Given the description of an element on the screen output the (x, y) to click on. 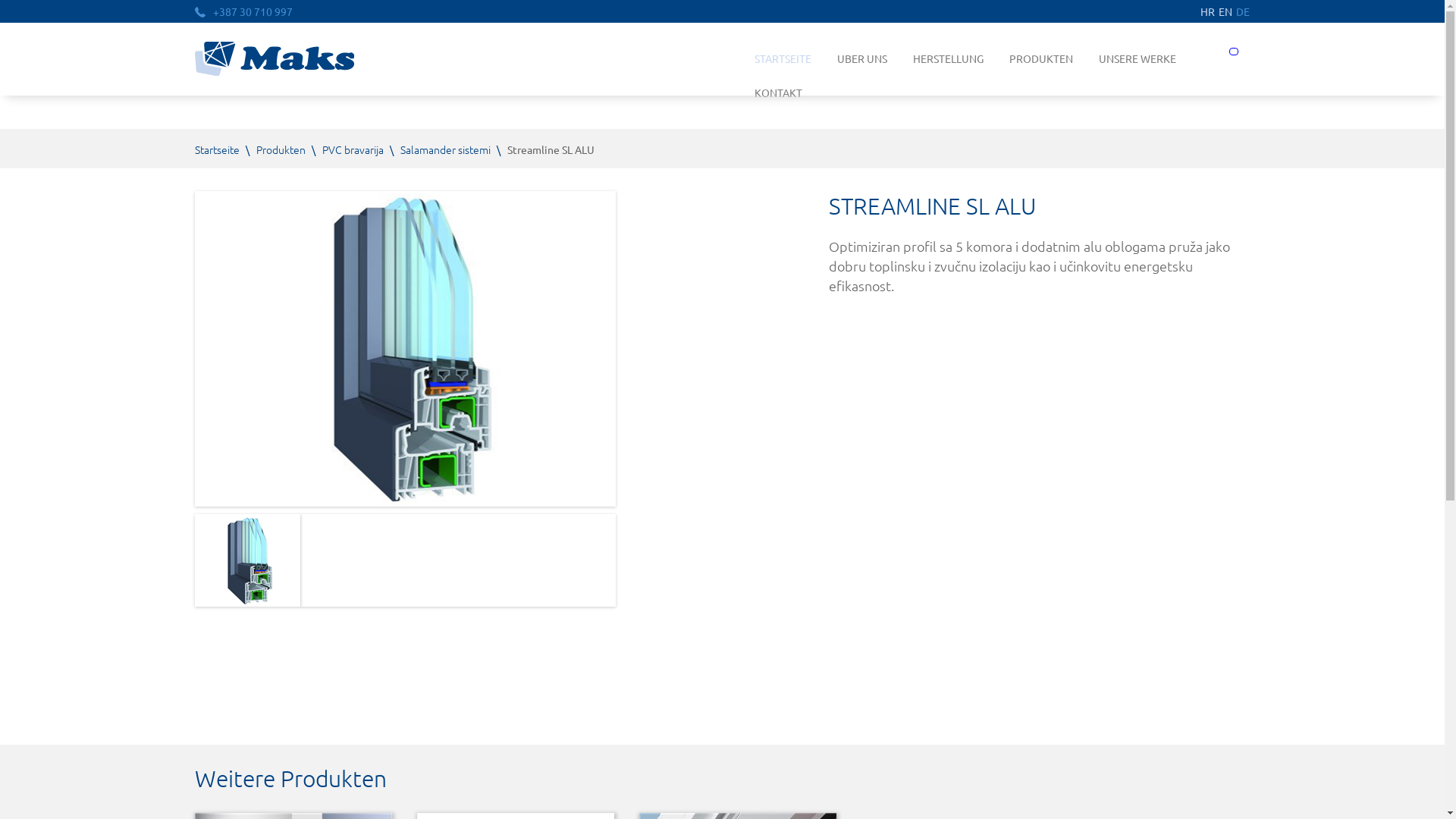
STARTSEITE Element type: text (782, 58)
Title1 Element type: hover (247, 560)
HERSTELLUNG Element type: text (947, 58)
Produkten Element type: text (280, 148)
KONTAKT Element type: text (772, 92)
Startseite Element type: text (216, 148)
PRODUKTEN Element type: text (1040, 58)
Prebaci navigaciju Element type: text (1233, 51)
DE Element type: text (1242, 11)
UNSERE WERKE Element type: text (1137, 58)
EN Element type: text (1225, 11)
UBER UNS Element type: text (861, 58)
Salamander sistemi Element type: text (445, 148)
PVC bravarija Element type: text (352, 148)
HR Element type: text (1207, 11)
